Given the description of an element on the screen output the (x, y) to click on. 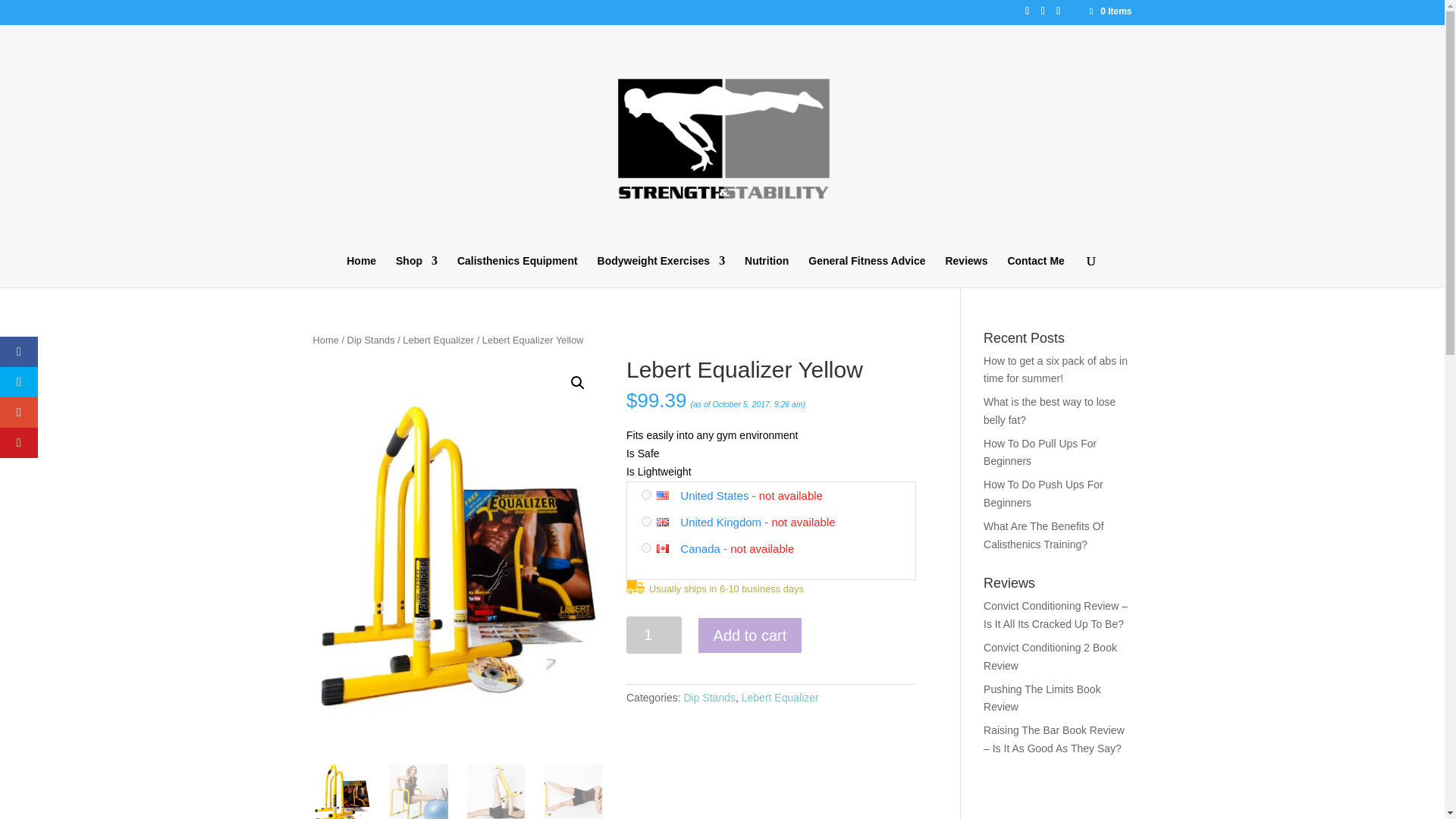
on (646, 521)
United Kingdom (667, 521)
Home (360, 270)
1 (653, 634)
Reviews (965, 270)
0 Items (1108, 10)
Bodyweight Exercises (660, 270)
Canada (667, 548)
Calisthenics Equipment (517, 270)
on (646, 547)
on (646, 494)
United States (667, 495)
Nutrition (766, 270)
Shop (417, 270)
Contact Me (1035, 270)
